Given the description of an element on the screen output the (x, y) to click on. 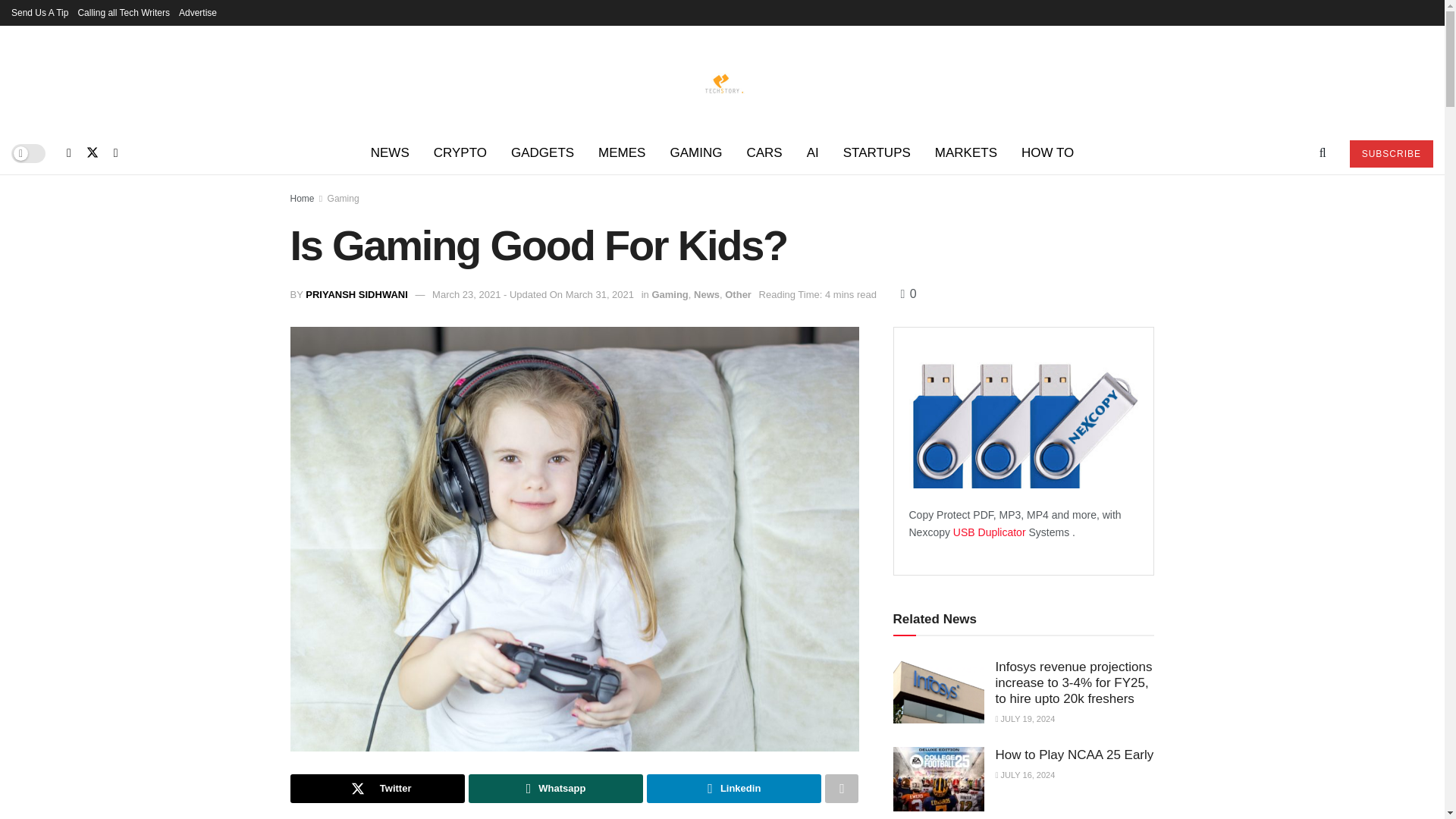
PRIYANSH SIDHWANI (356, 294)
USB duplicator (989, 532)
Send Us A Tip (39, 12)
MARKETS (966, 152)
CRYPTO (460, 152)
NEWS (390, 152)
Home (301, 198)
HOW TO (1047, 152)
GADGETS (542, 152)
CARS (763, 152)
STARTUPS (877, 152)
Gaming (343, 198)
Calling all Tech Writers (123, 12)
MEMES (622, 152)
SUBSCRIBE (1390, 153)
